Given the description of an element on the screen output the (x, y) to click on. 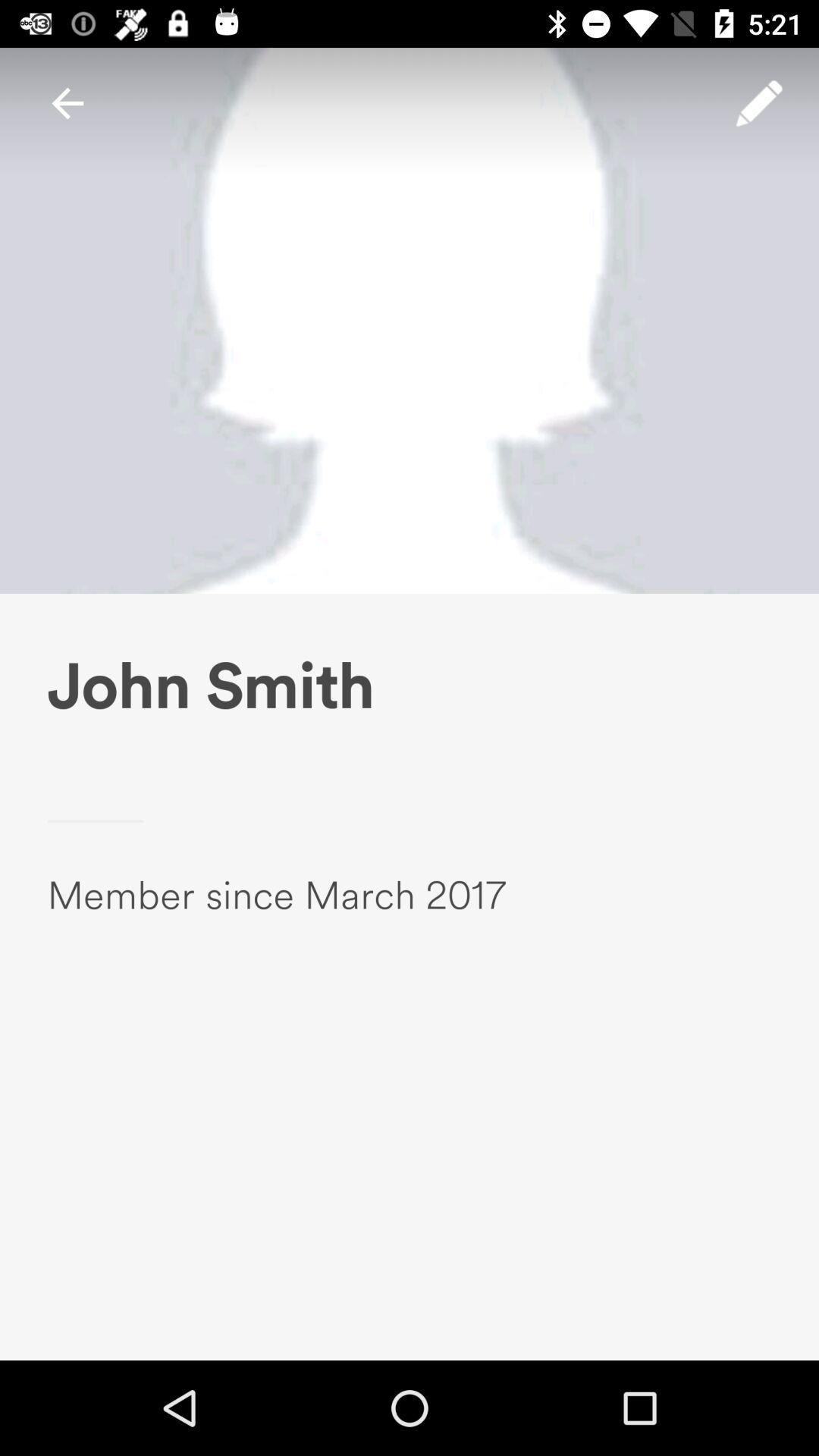
press icon at the top right corner (759, 103)
